Given the description of an element on the screen output the (x, y) to click on. 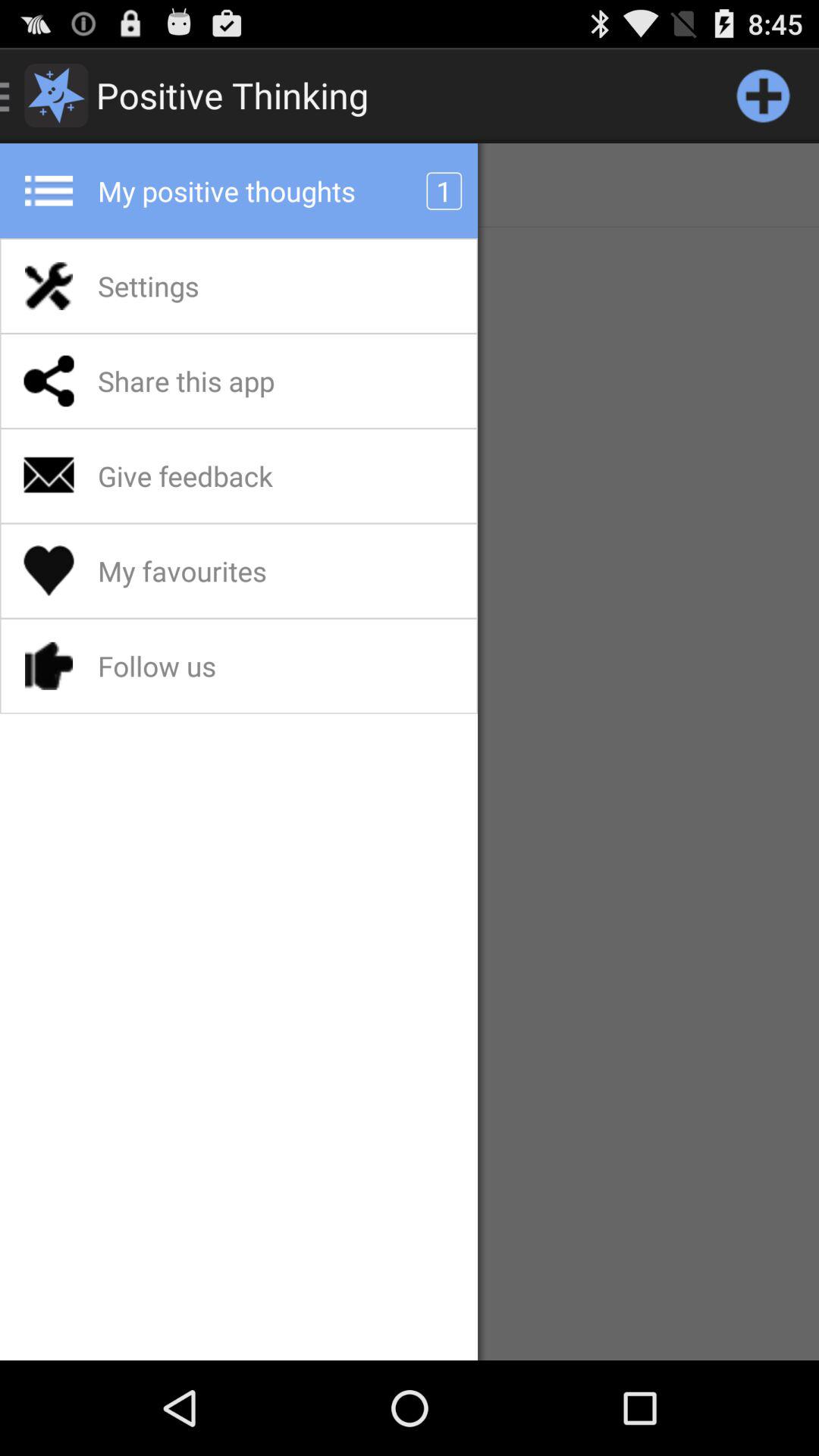
open item above the settings (409, 184)
